Given the description of an element on the screen output the (x, y) to click on. 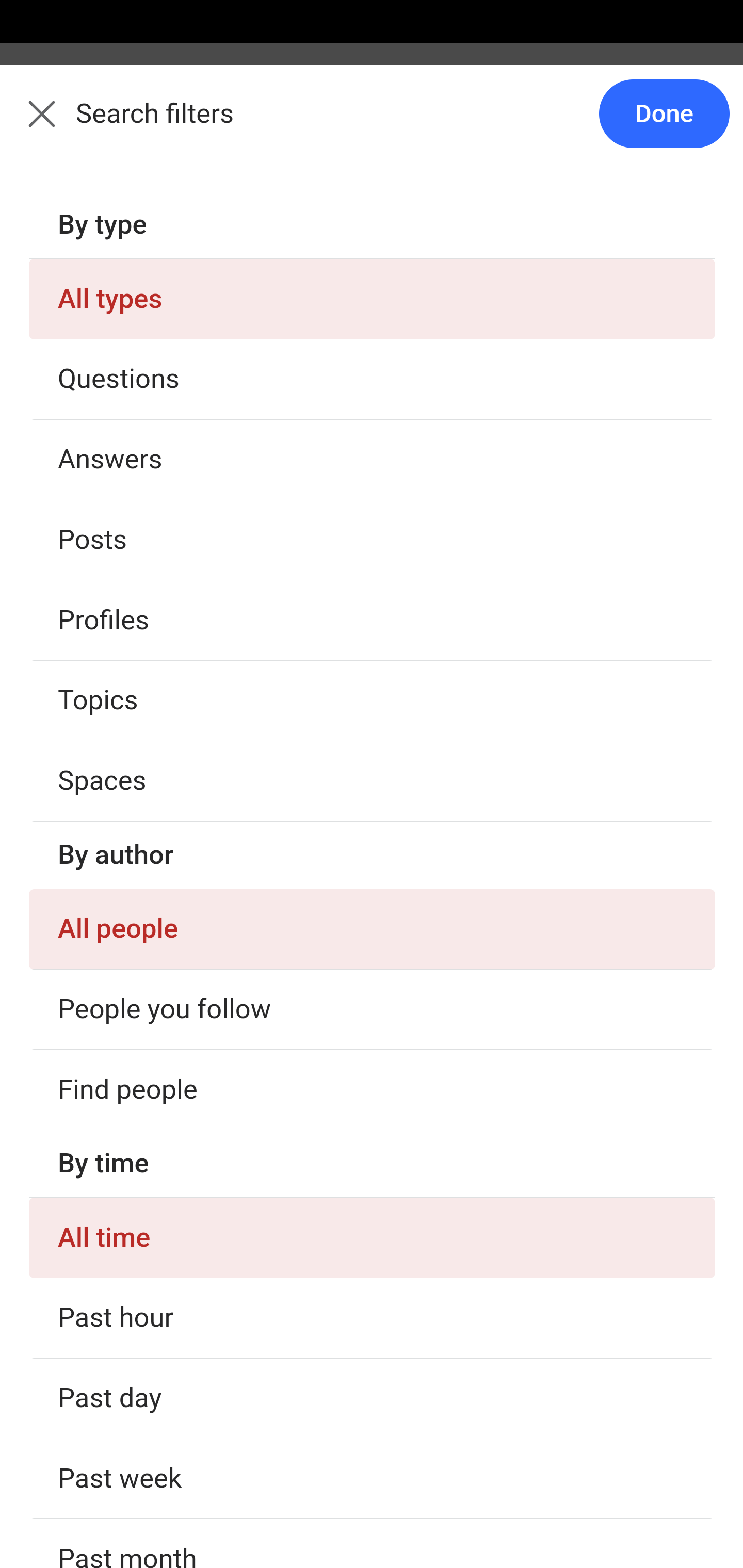
Back Search (371, 125)
Back (30, 125)
Answer (125, 387)
Answer (125, 784)
Answer (125, 1179)
Answer (125, 1378)
